Given the description of an element on the screen output the (x, y) to click on. 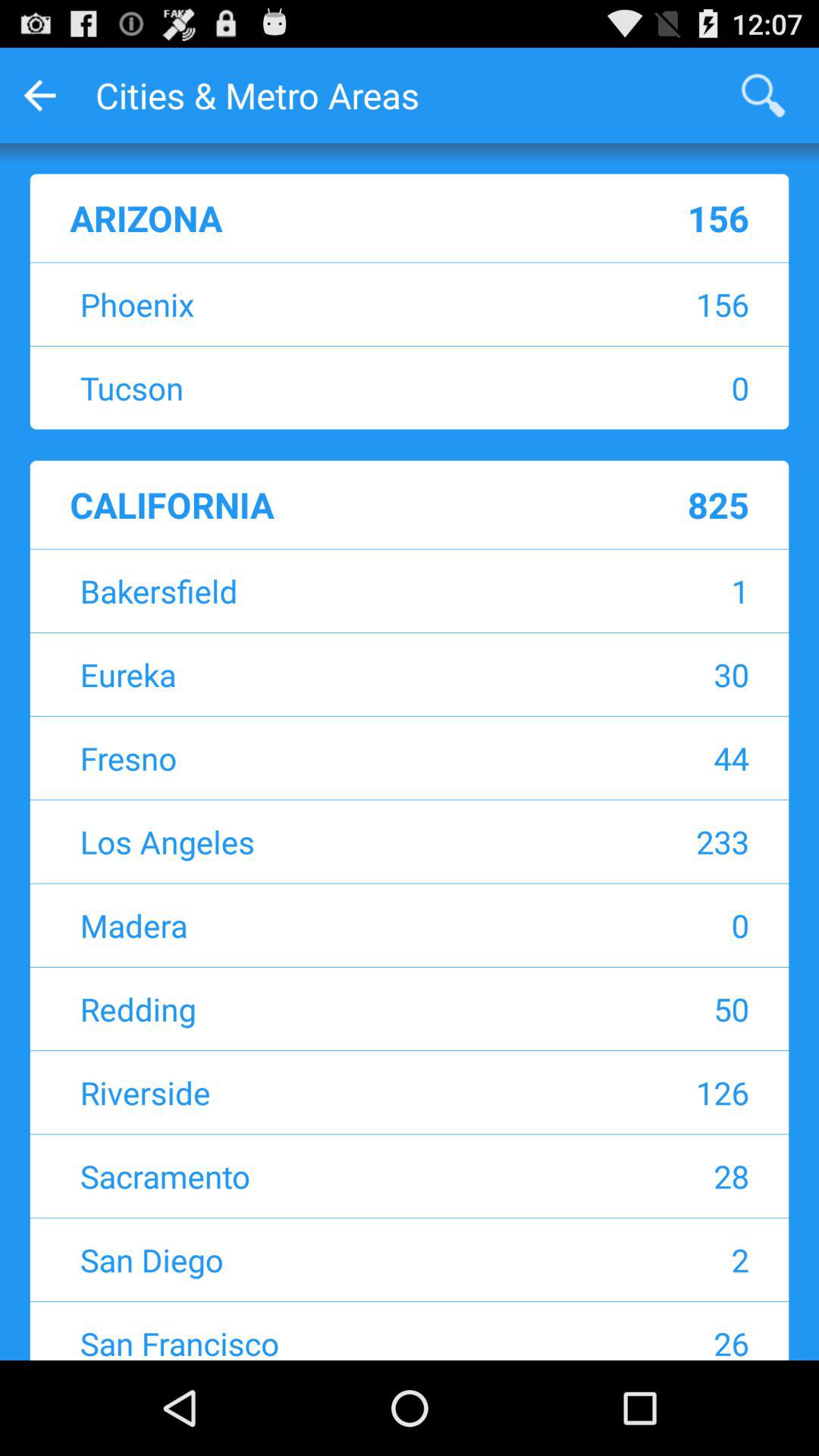
swipe to the arizona (309, 217)
